Given the description of an element on the screen output the (x, y) to click on. 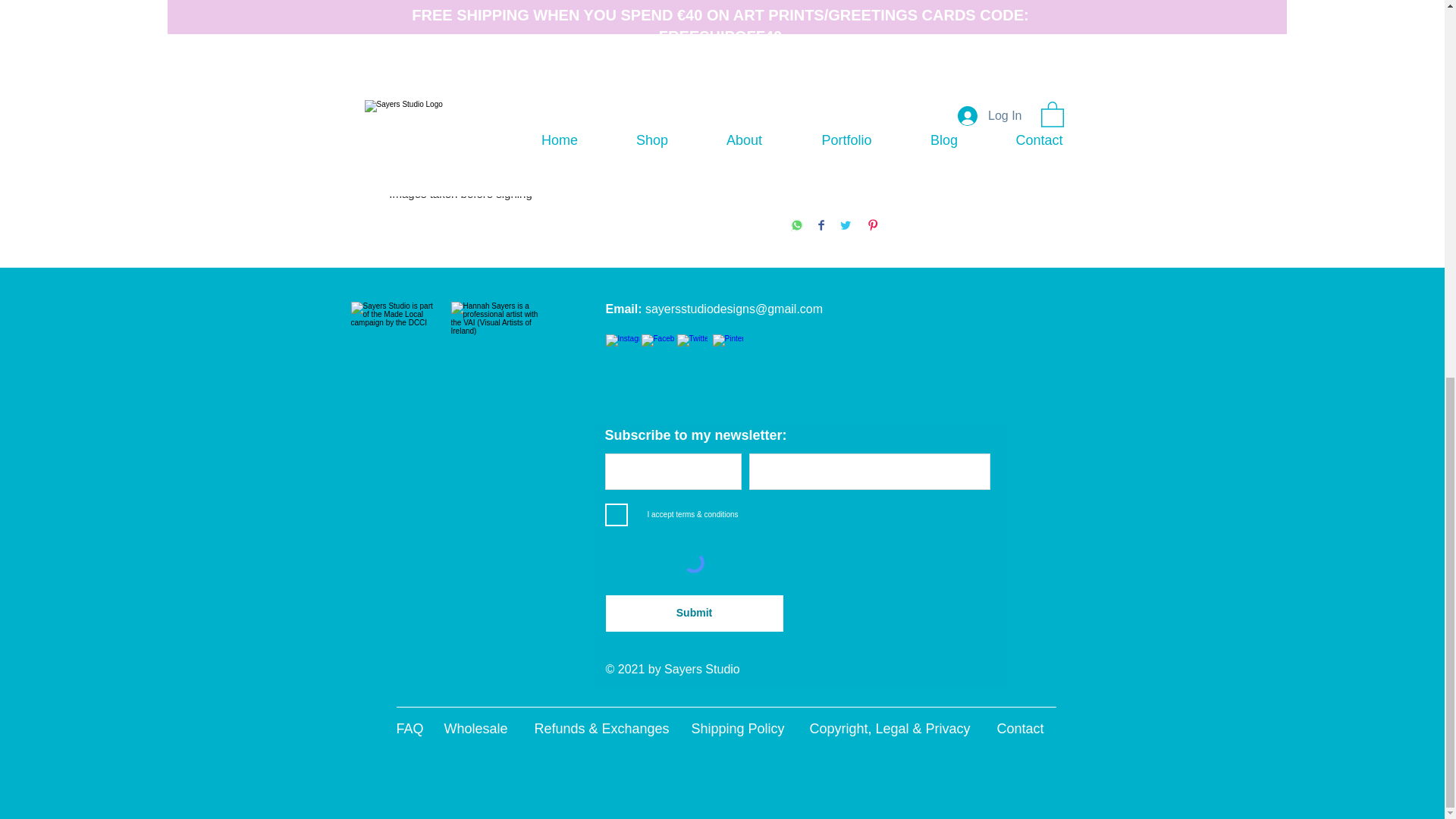
FAQ (409, 728)
Copyright information (924, 58)
Shipping information (924, 110)
Shipping Policy (737, 728)
Submit (694, 613)
Wholesale (476, 728)
